Given the description of an element on the screen output the (x, y) to click on. 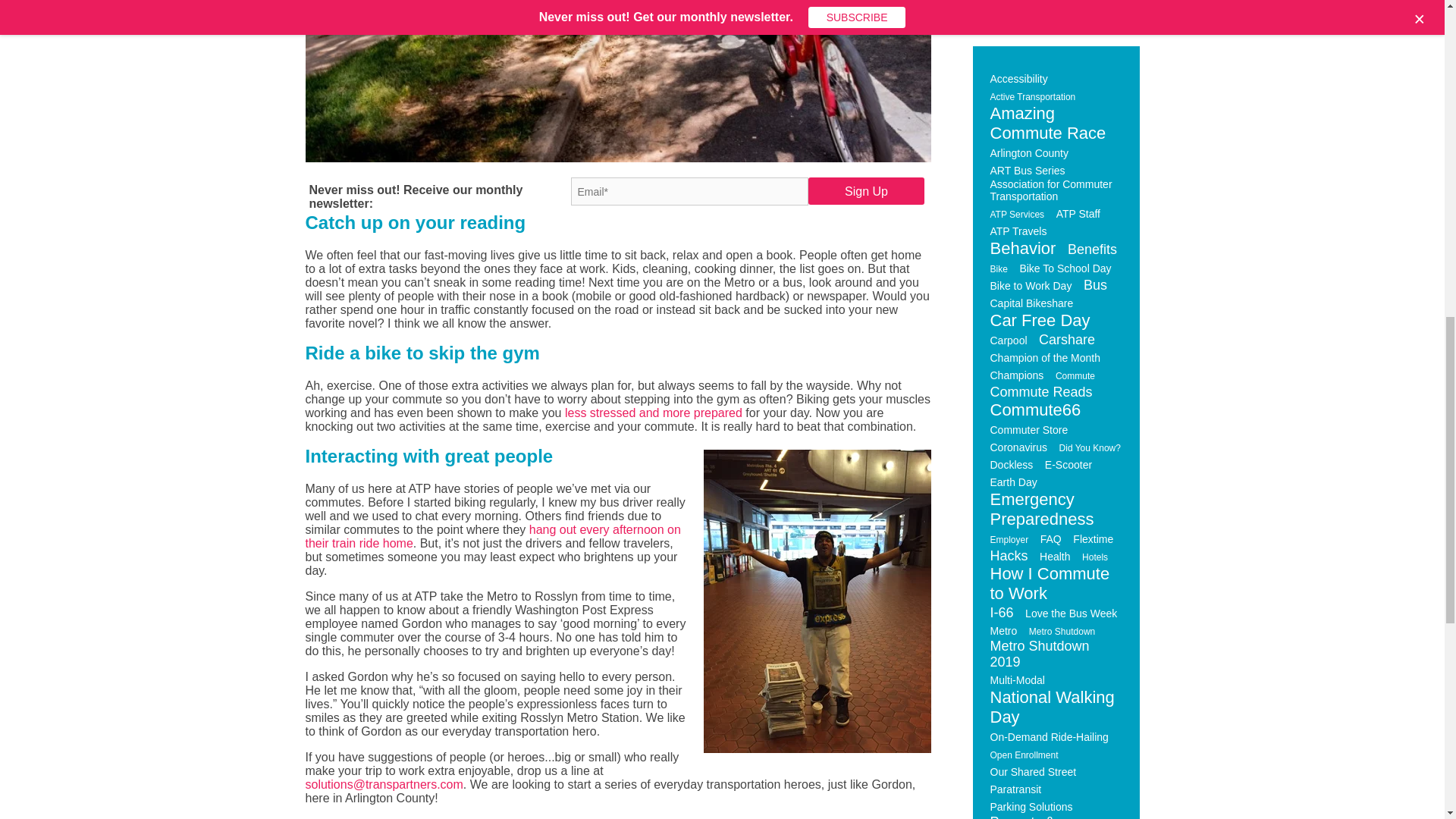
Sign Up (866, 190)
Capital Bikeshare rider in protected lane (617, 81)
